Given the description of an element on the screen output the (x, y) to click on. 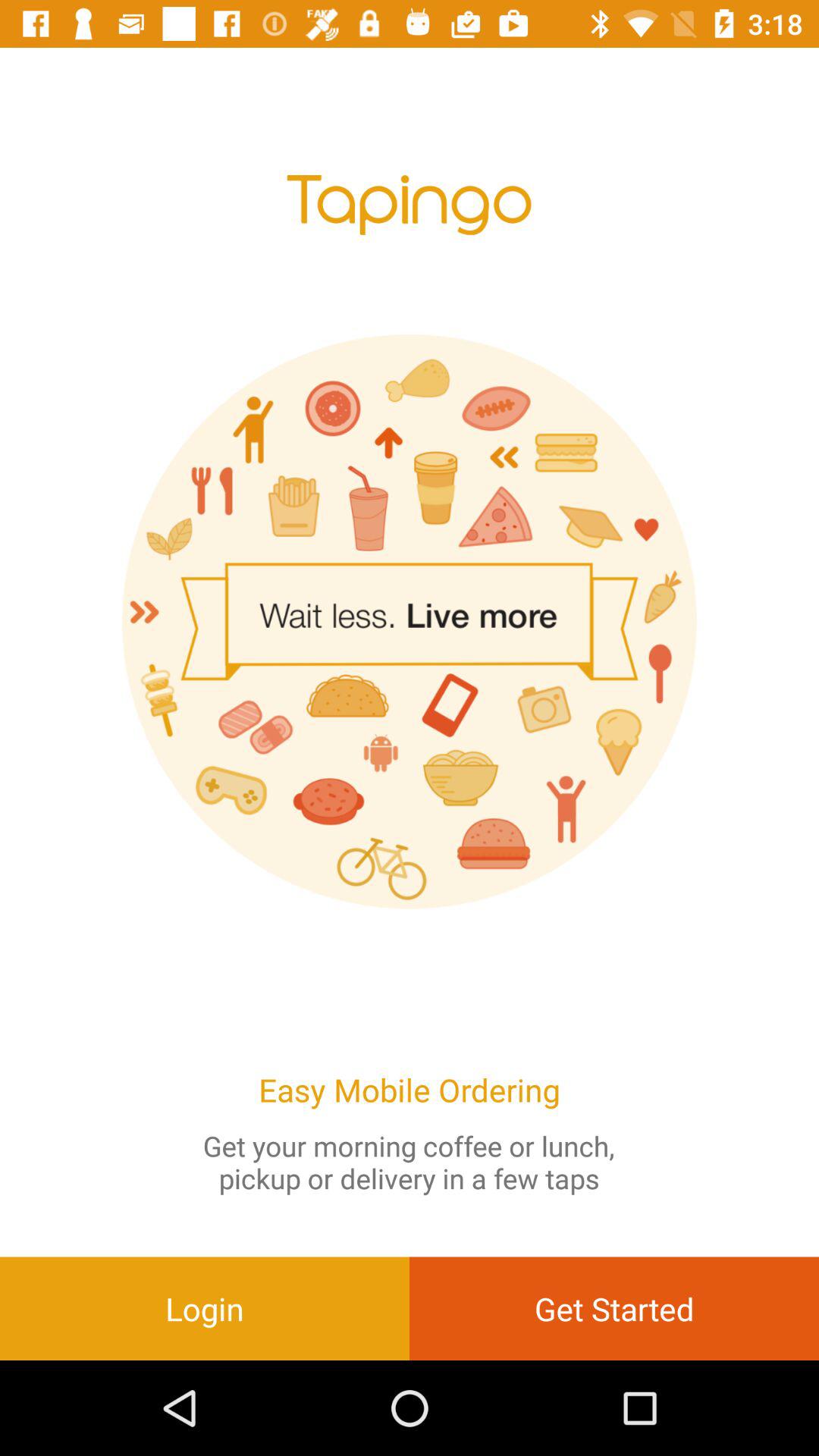
select the item to the right of login item (614, 1308)
